Given the description of an element on the screen output the (x, y) to click on. 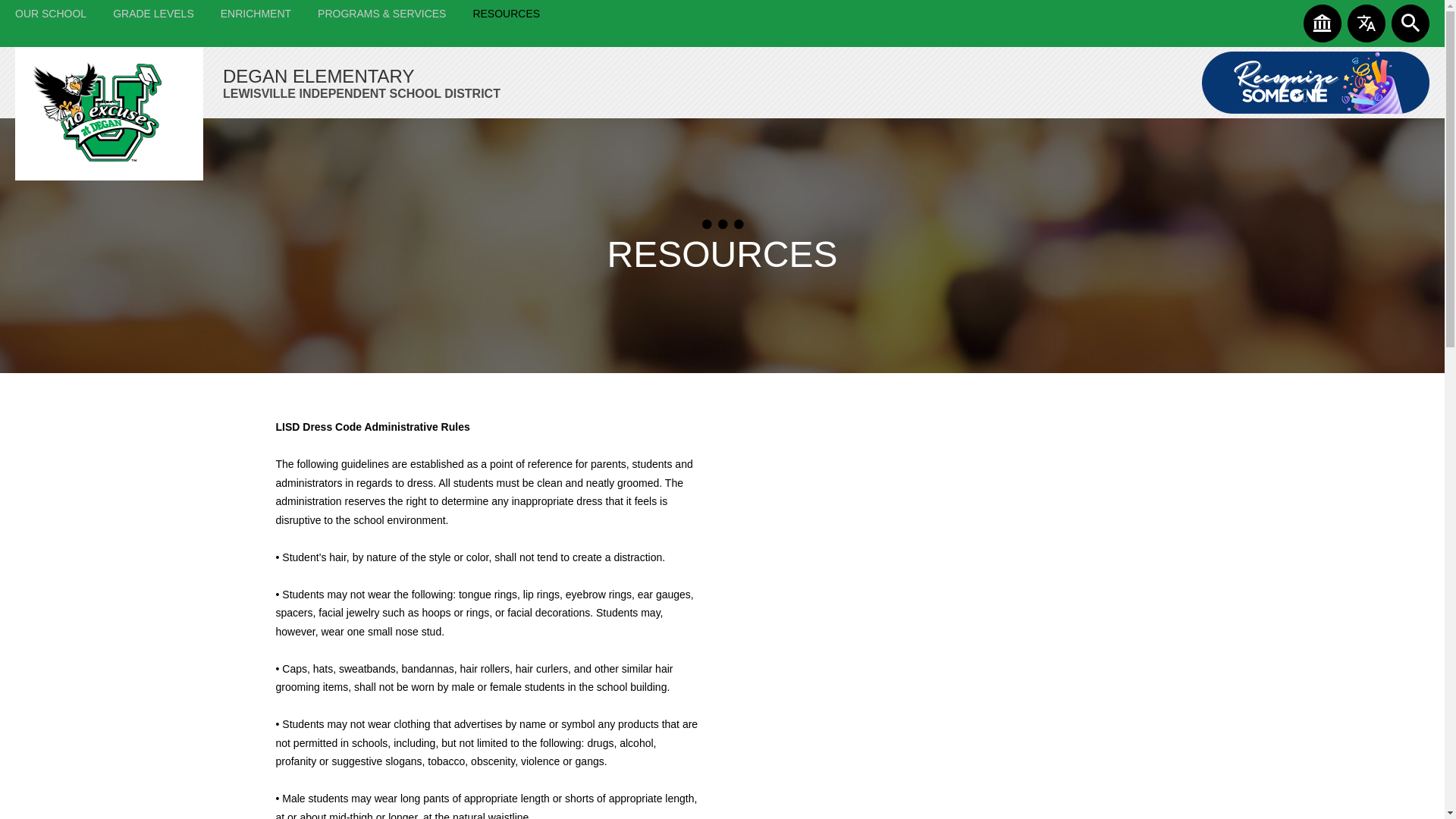
Degan Elementary (108, 113)
